Given the description of an element on the screen output the (x, y) to click on. 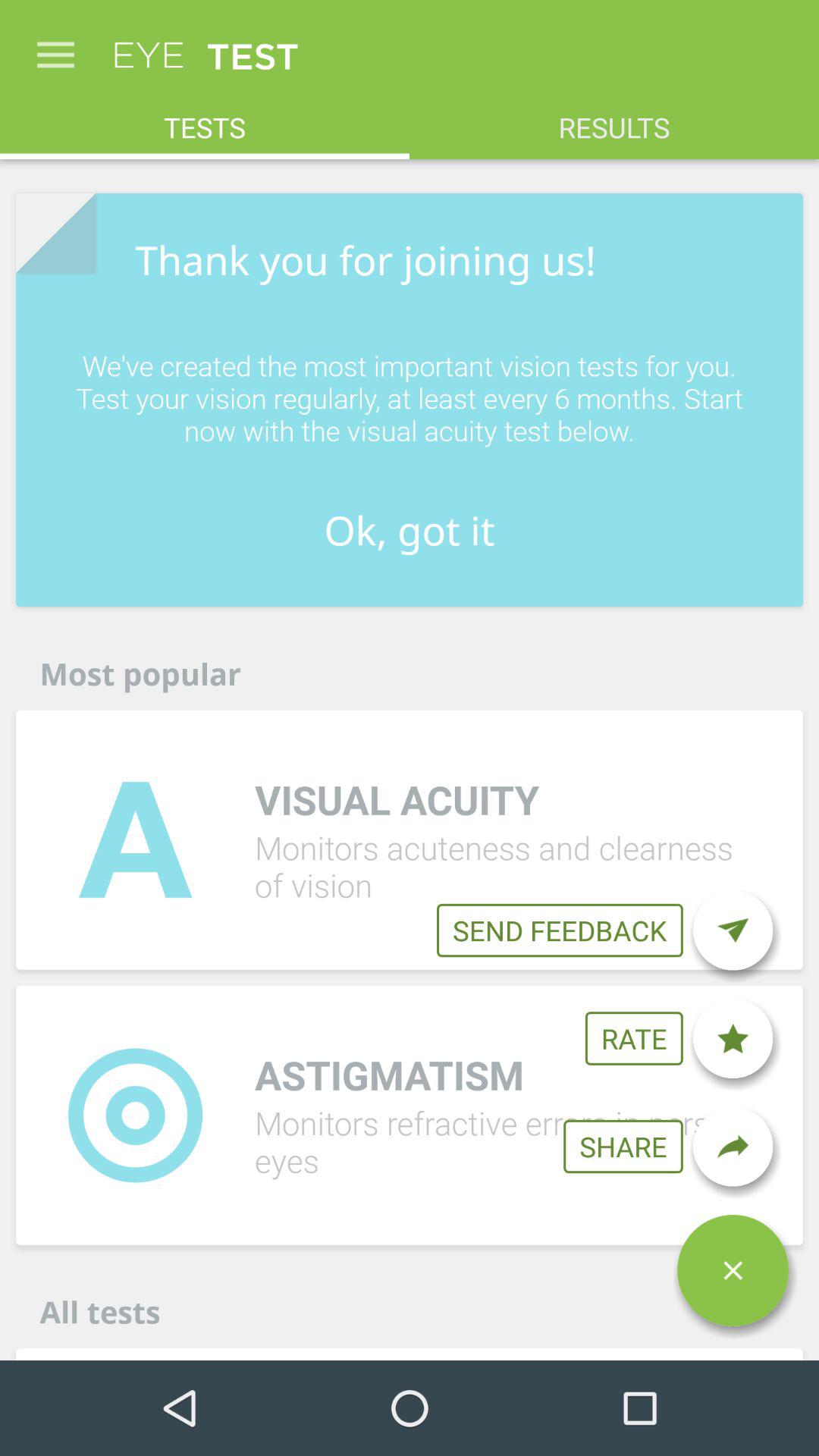
select the icon to the left of the eye (55, 47)
